Given the description of an element on the screen output the (x, y) to click on. 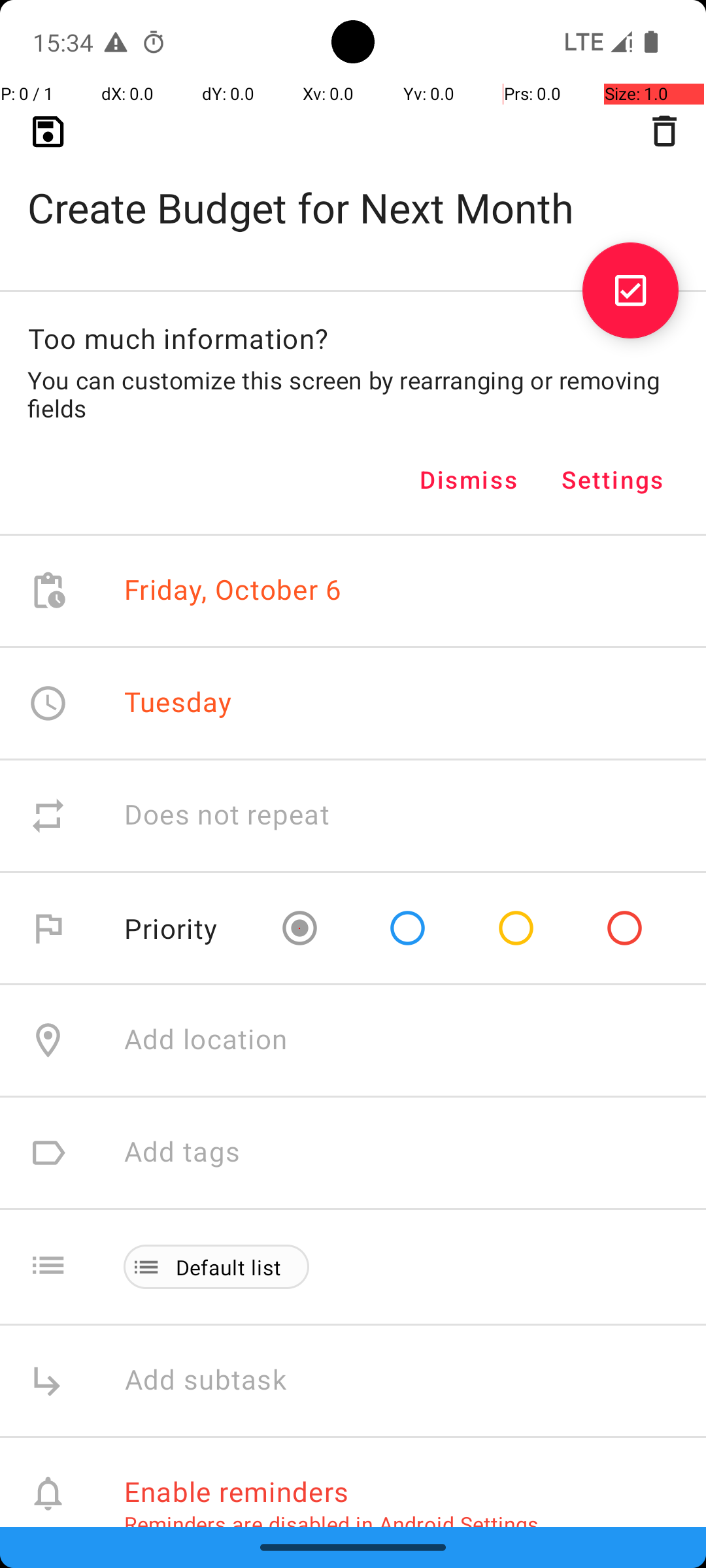
Create Budget for Next Month Element type: android.widget.EditText (353, 186)
Delete task Element type: android.widget.Button (664, 131)
Too much information? Element type: android.widget.TextView (178, 337)
You can customize this screen by rearranging or removing fields Element type: android.widget.TextView (352, 393)
Default list Element type: android.widget.TextView (228, 1267)
Friday, October 6 Element type: android.widget.TextView (232, 590)
Add location Element type: android.widget.TextView (205, 1040)
Add tags Element type: android.widget.TextView (182, 1152)
Add subtask Element type: android.widget.TextView (219, 1380)
Enable reminders Element type: android.widget.TextView (236, 1490)
Reminders are disabled in Android Settings Element type: android.widget.TextView (331, 1523)
